Given the description of an element on the screen output the (x, y) to click on. 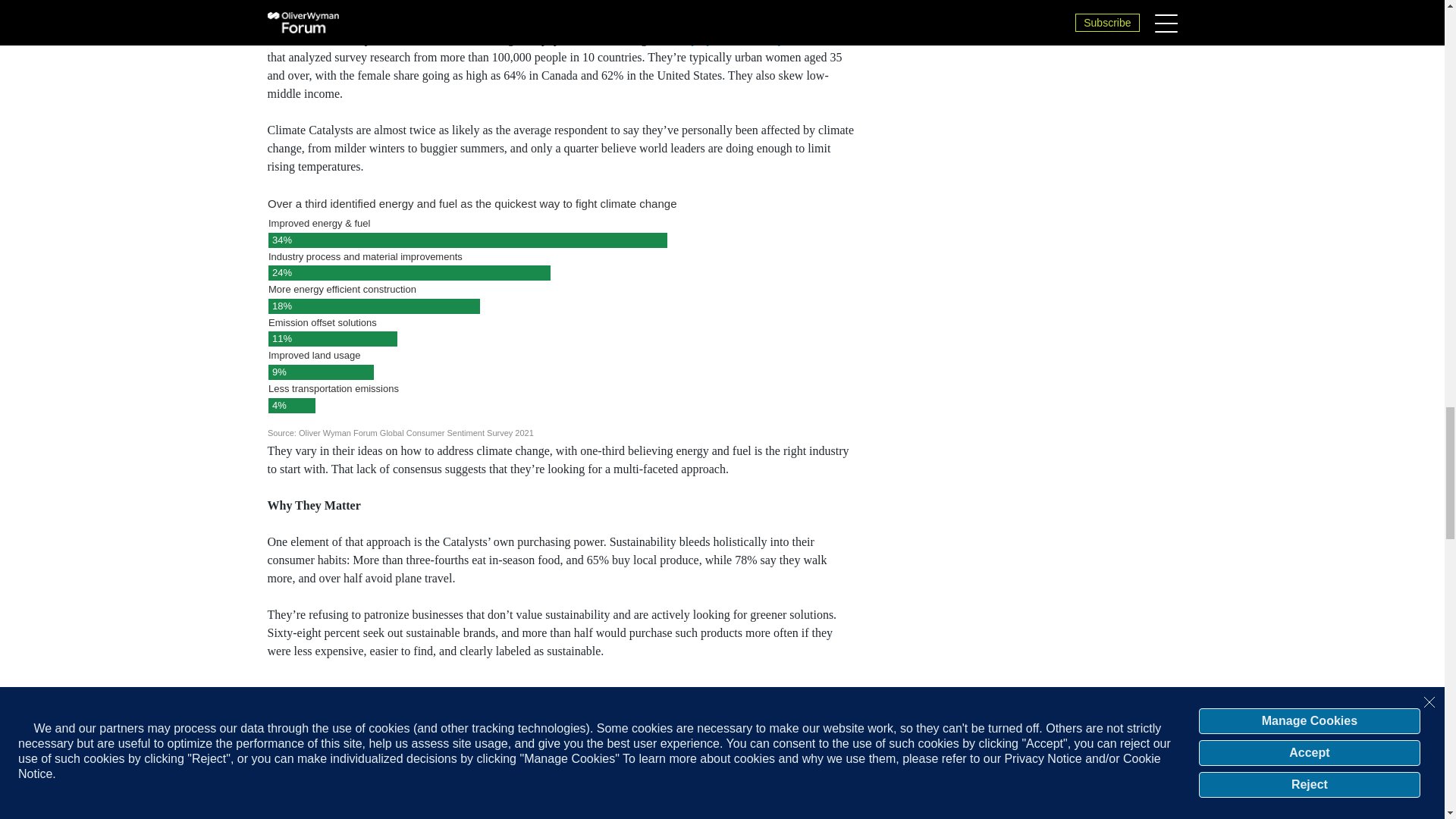
Lorem Ipsum  (561, 748)
a study by the Oliver Wyman Forum (751, 38)
